Given the description of an element on the screen output the (x, y) to click on. 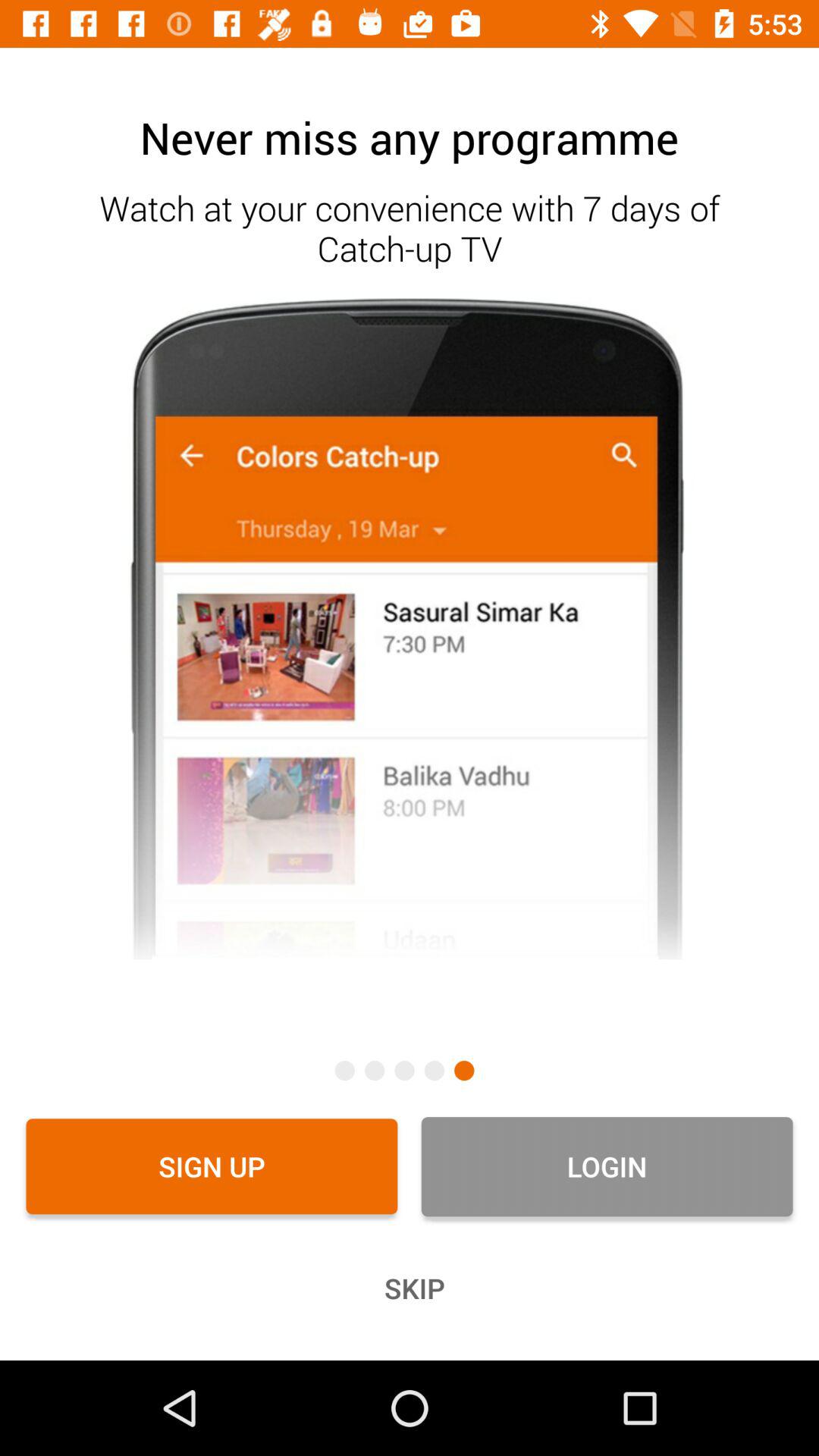
press icon to the right of the sign up icon (606, 1166)
